Given the description of an element on the screen output the (x, y) to click on. 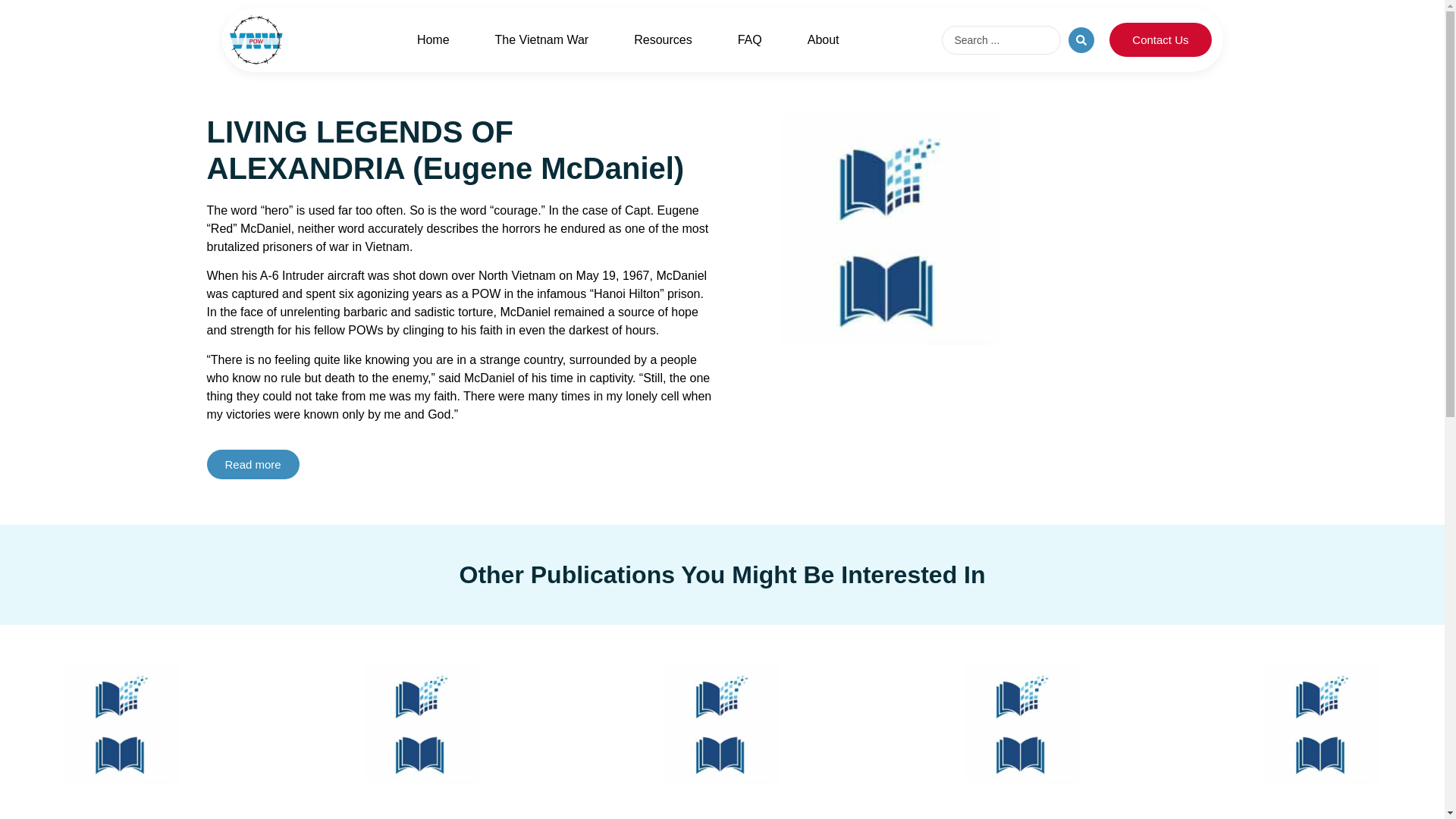
FAQ (749, 39)
Resources (662, 39)
The Vietnam War (541, 39)
Read more (252, 464)
About (822, 39)
Home (432, 39)
Contact Us (1160, 39)
